Given the description of an element on the screen output the (x, y) to click on. 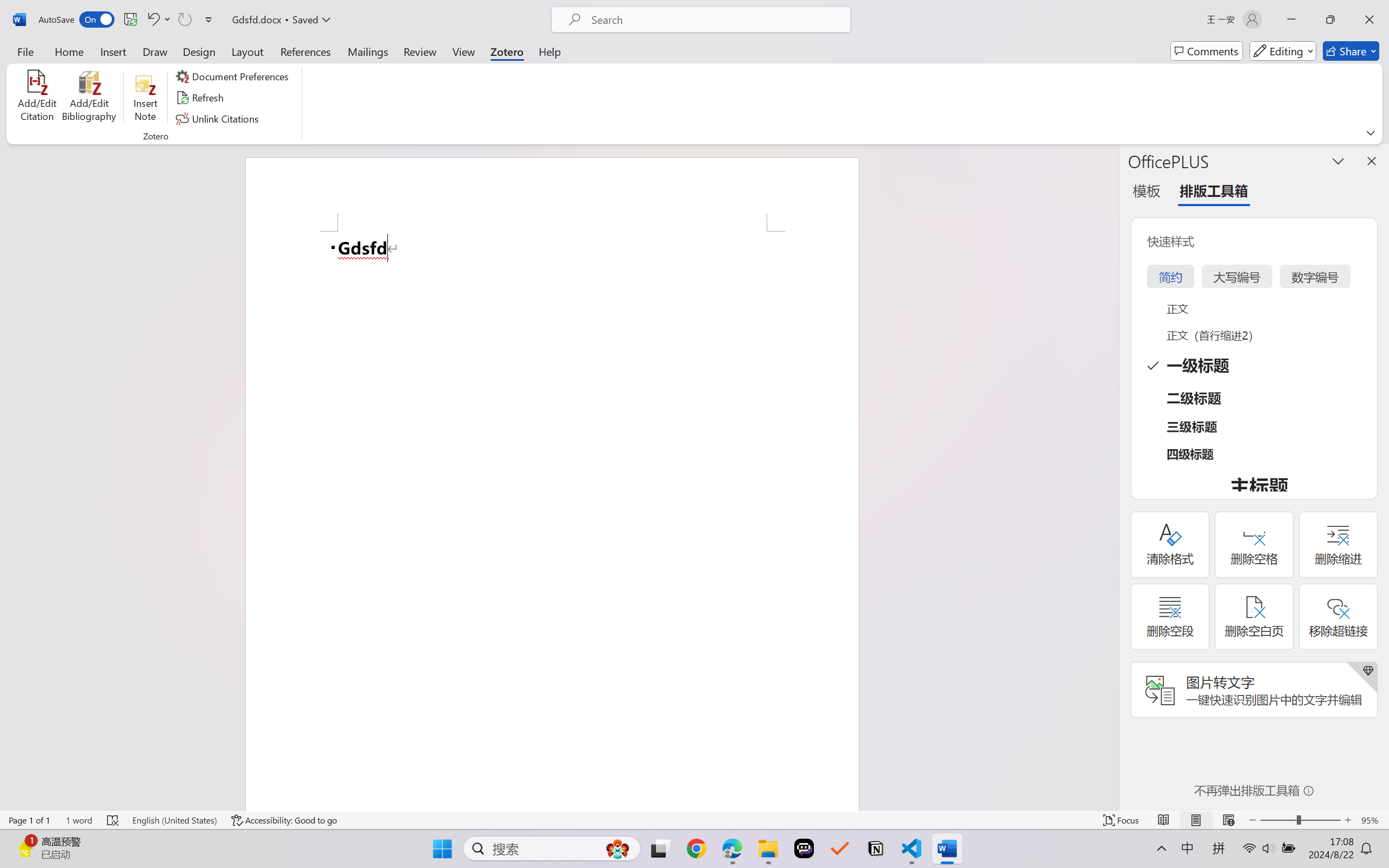
Insert Note (145, 97)
Refresh (201, 97)
